Given the description of an element on the screen output the (x, y) to click on. 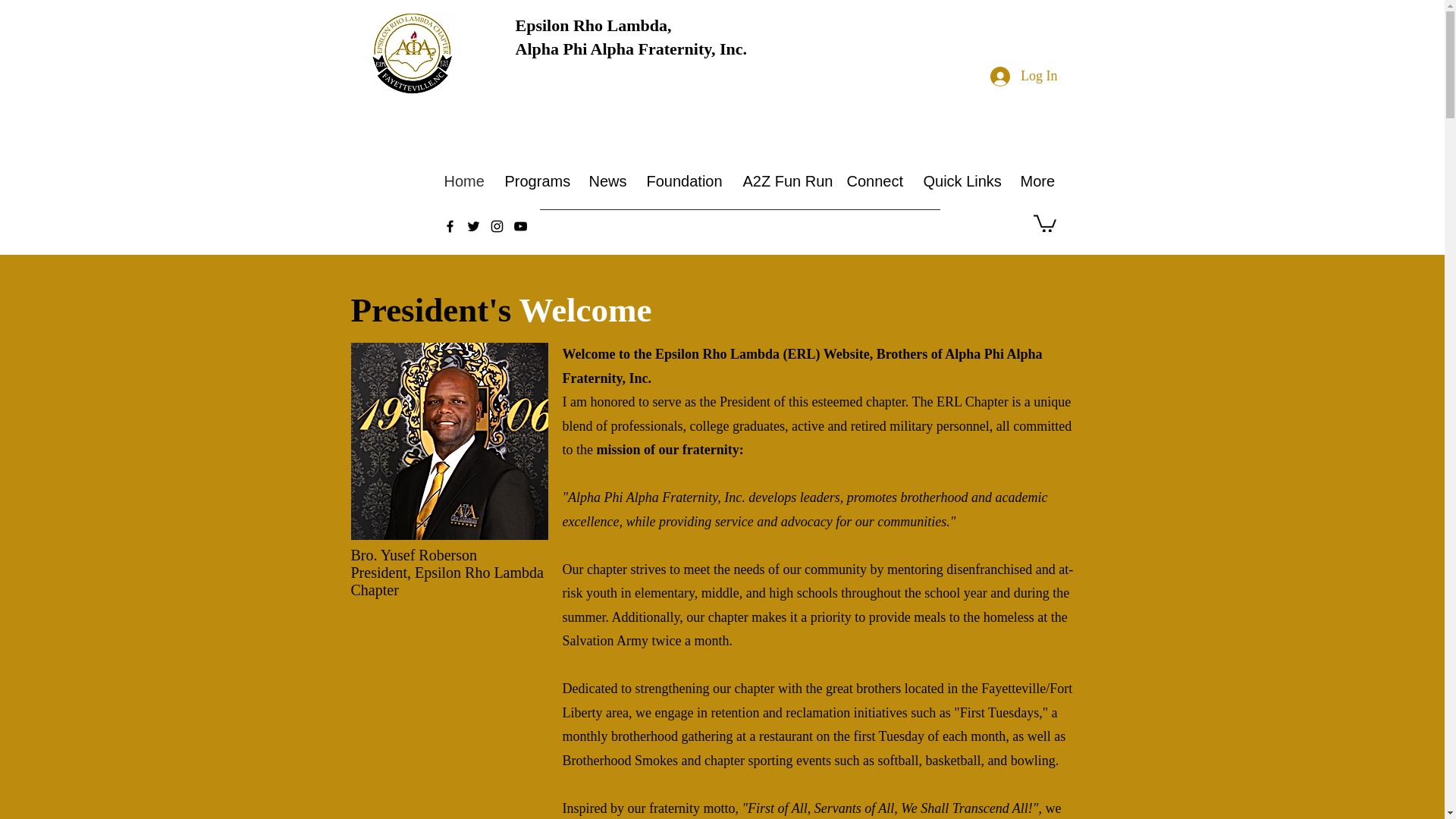
Foundation (687, 180)
Quick Links (631, 36)
A2Z Fun Run (964, 180)
Log In (787, 180)
Bro. Henderson.jpg (1023, 76)
